Given the description of an element on the screen output the (x, y) to click on. 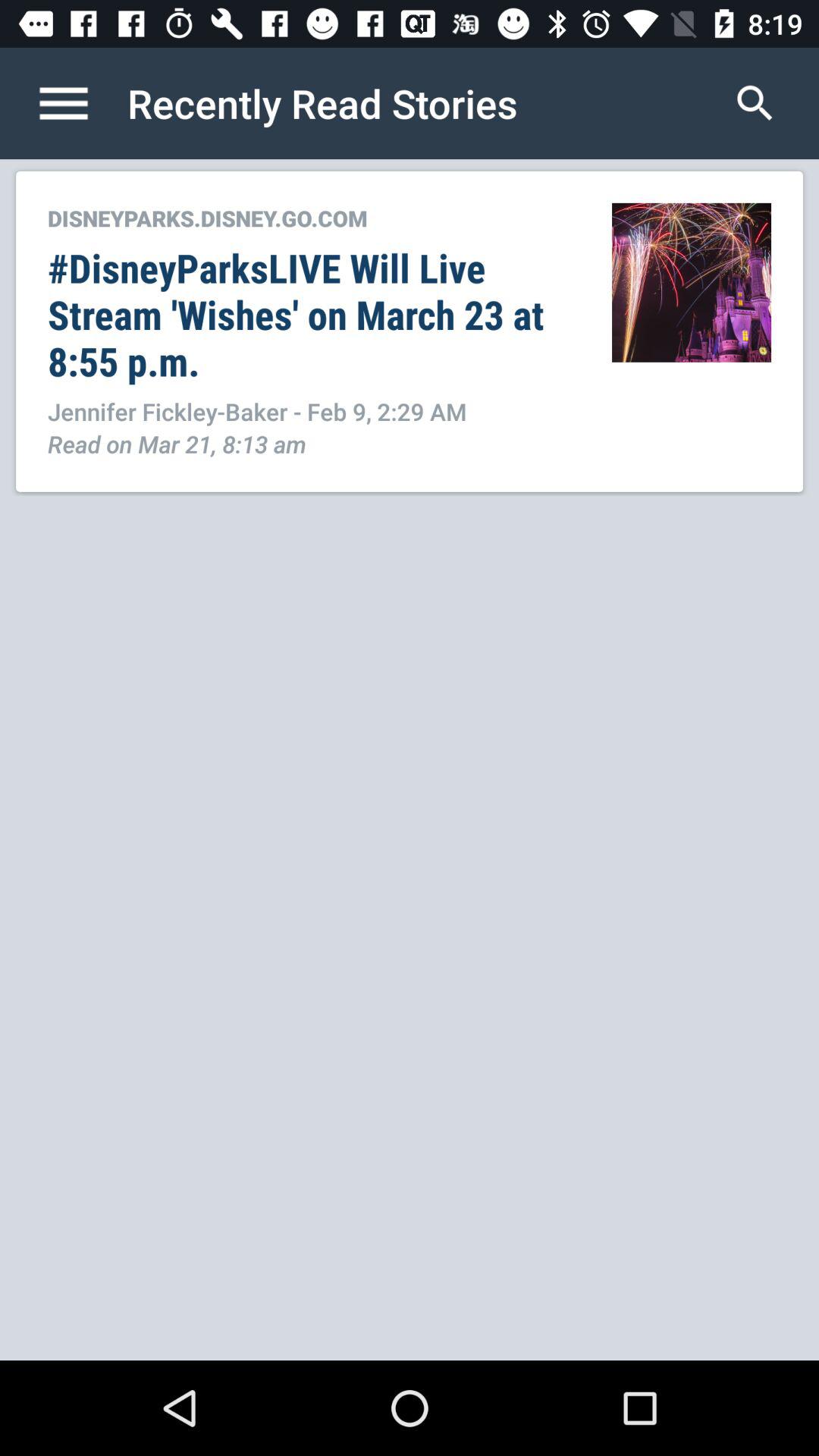
turn on the item below disneyparks disney go (313, 314)
